Given the description of an element on the screen output the (x, y) to click on. 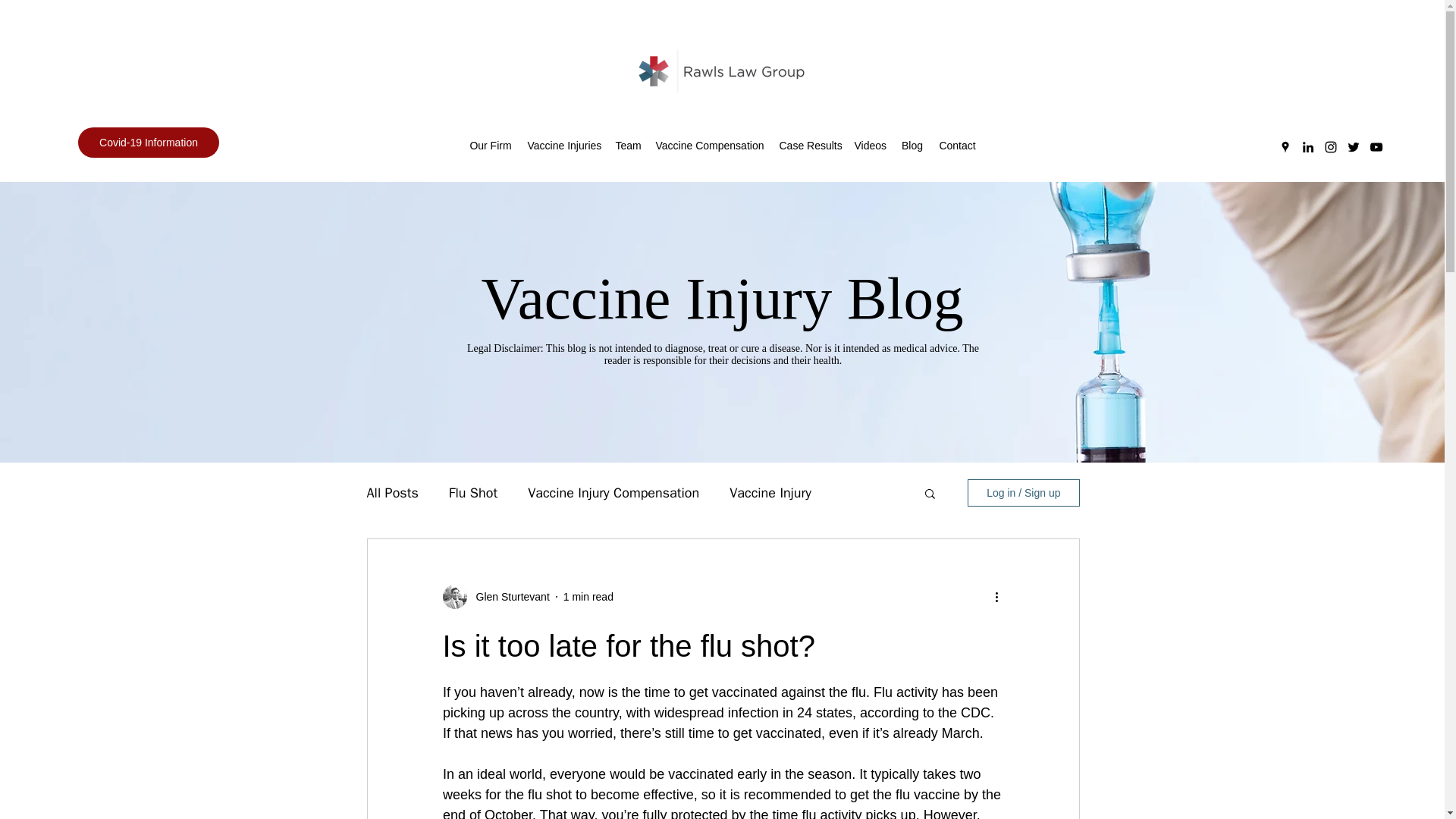
Case Results (809, 146)
Vaccine Injury Compensation (612, 493)
Covid-19 Information (148, 142)
Vaccine Injury (769, 493)
Team (627, 146)
Blog (911, 146)
All Posts (392, 493)
Our Firm (490, 146)
Glen Sturtevant (508, 596)
Videos (869, 146)
Flu Shot (472, 493)
Contact (957, 146)
1 min read (587, 595)
Vaccine Injuries (563, 146)
Vaccine Compensation (709, 146)
